Given the description of an element on the screen output the (x, y) to click on. 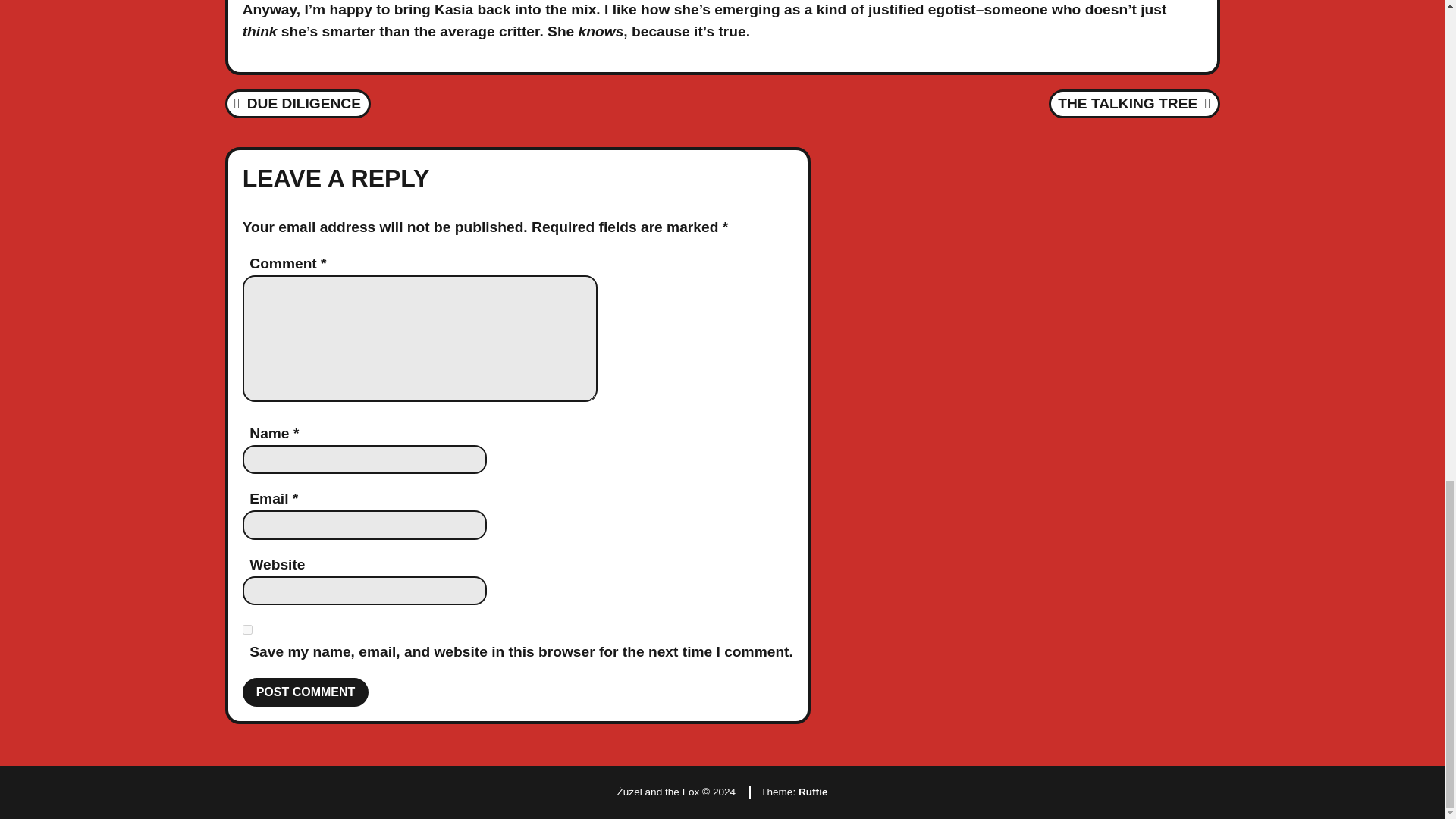
Post Comment (1134, 103)
Post Comment (306, 692)
yes (306, 692)
Ruffie (297, 103)
